Given the description of an element on the screen output the (x, y) to click on. 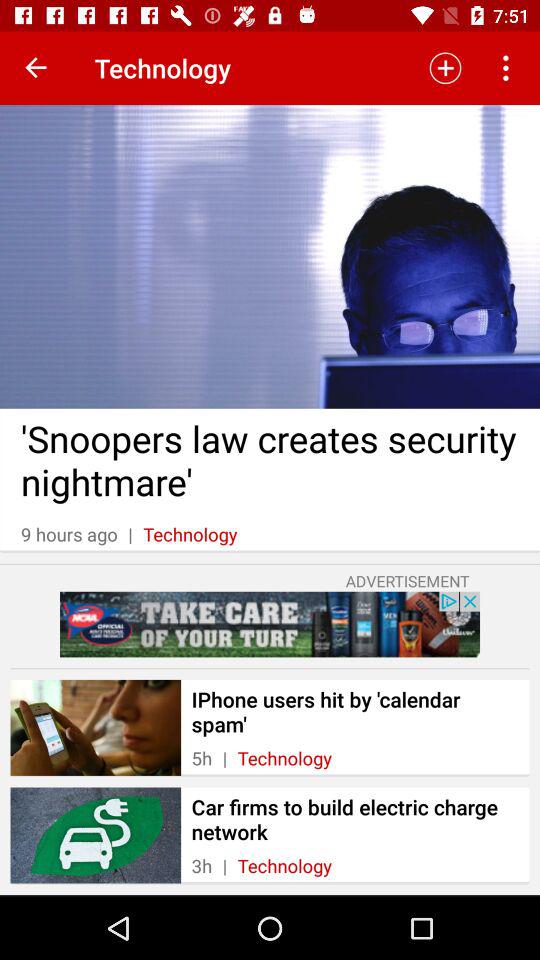
go back (36, 68)
